Given the description of an element on the screen output the (x, y) to click on. 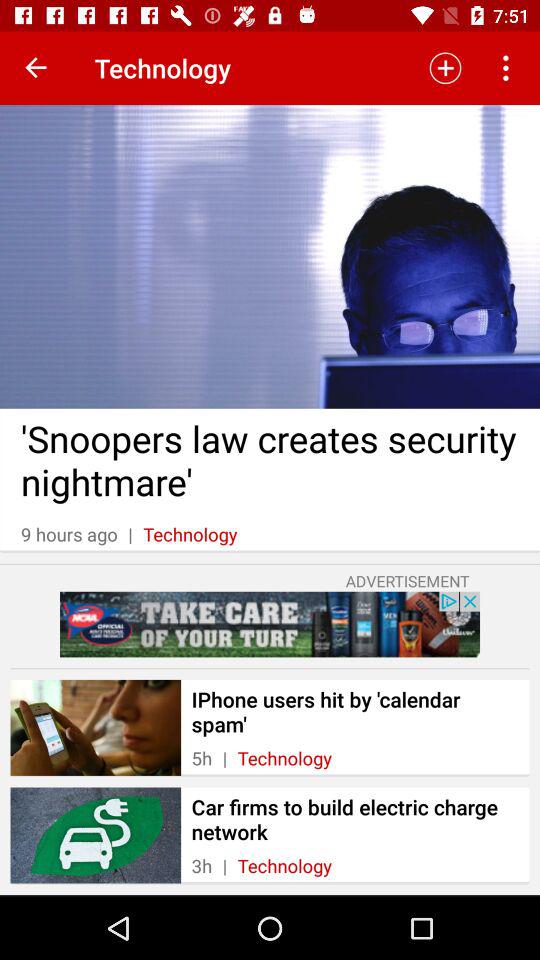
go back (36, 68)
